Given the description of an element on the screen output the (x, y) to click on. 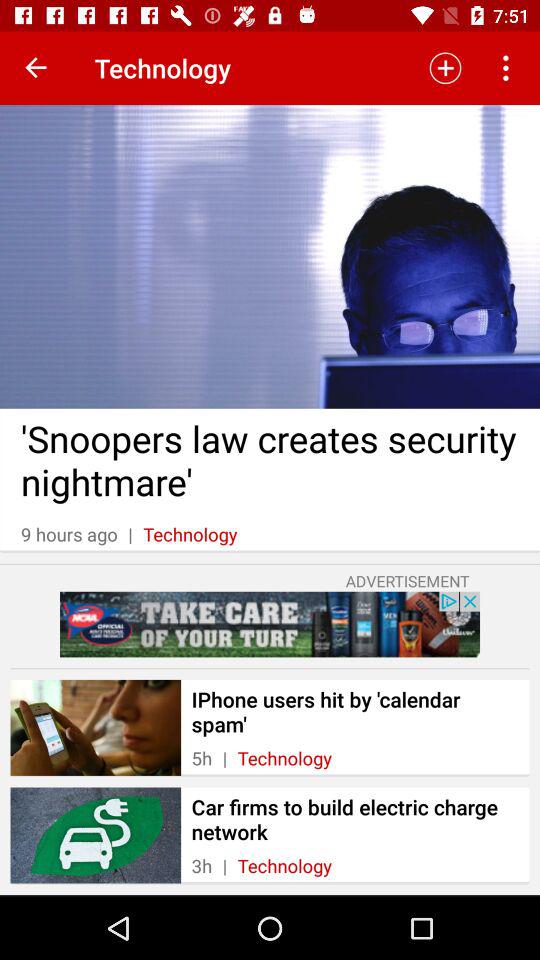
go back (36, 68)
